Given the description of an element on the screen output the (x, y) to click on. 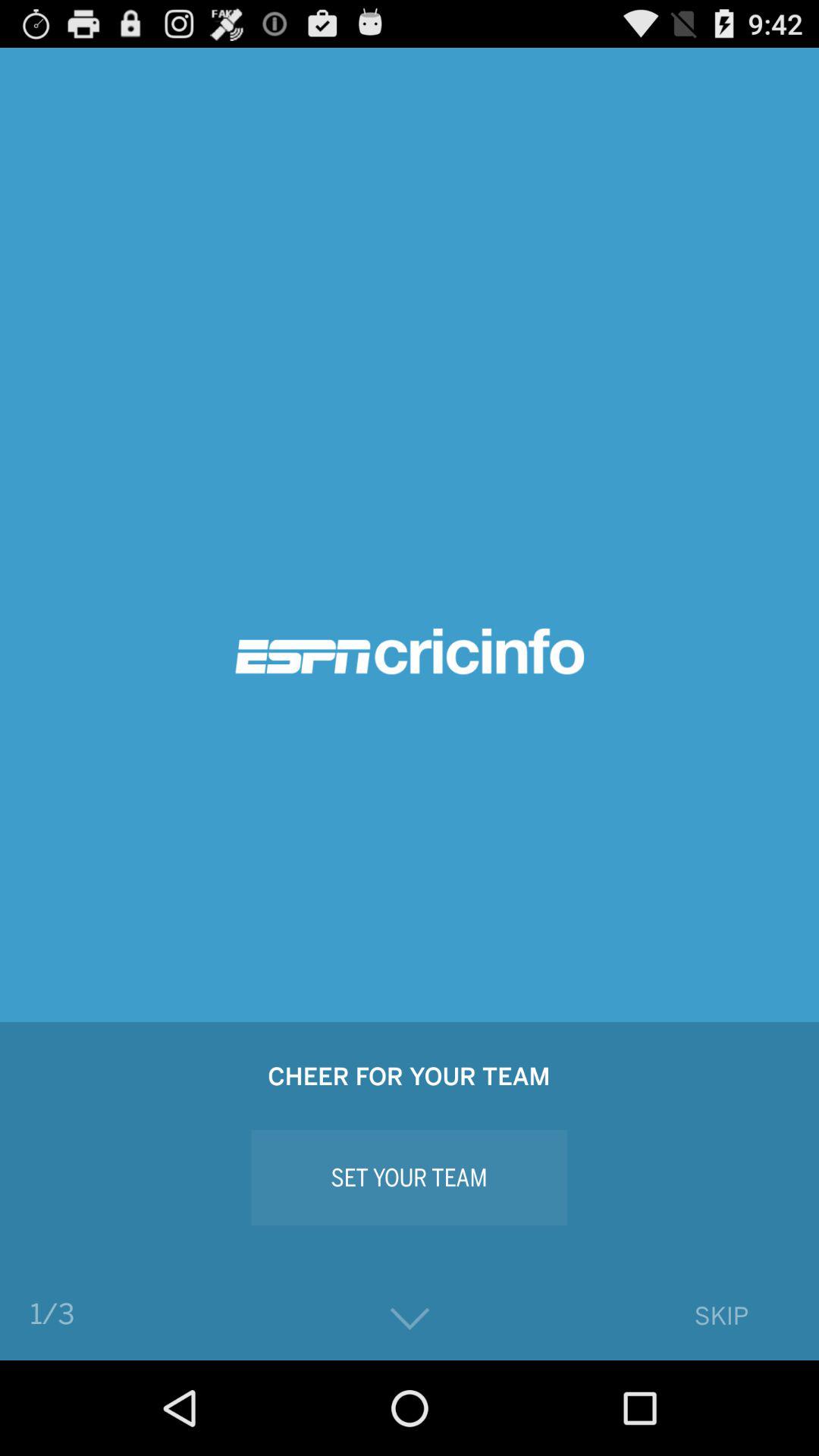
go down (409, 1319)
